Given the description of an element on the screen output the (x, y) to click on. 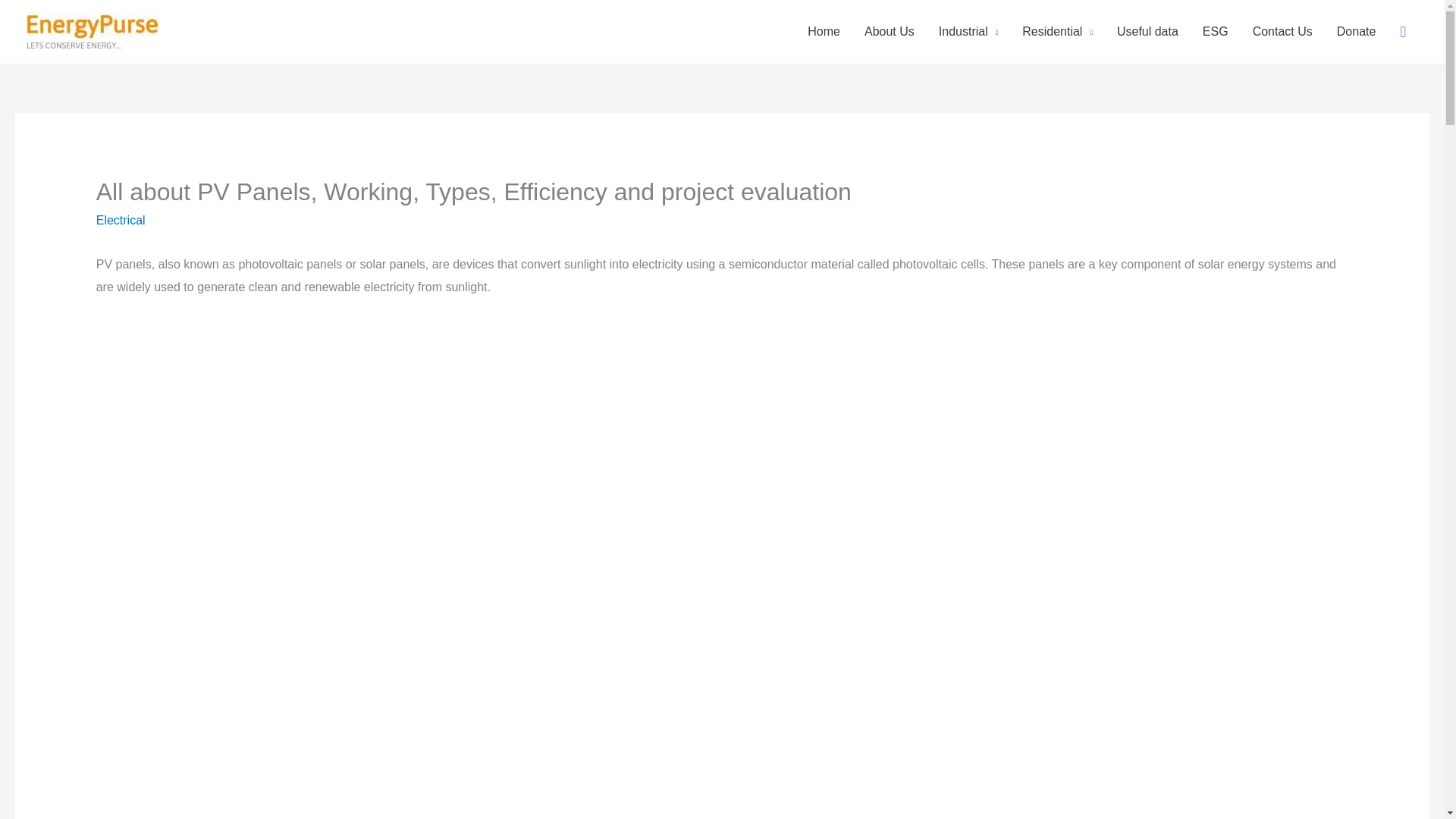
About Us (888, 31)
Residential (1057, 31)
Useful data (1148, 31)
ESG (1215, 31)
Industrial (968, 31)
Home (822, 31)
